Given the description of an element on the screen output the (x, y) to click on. 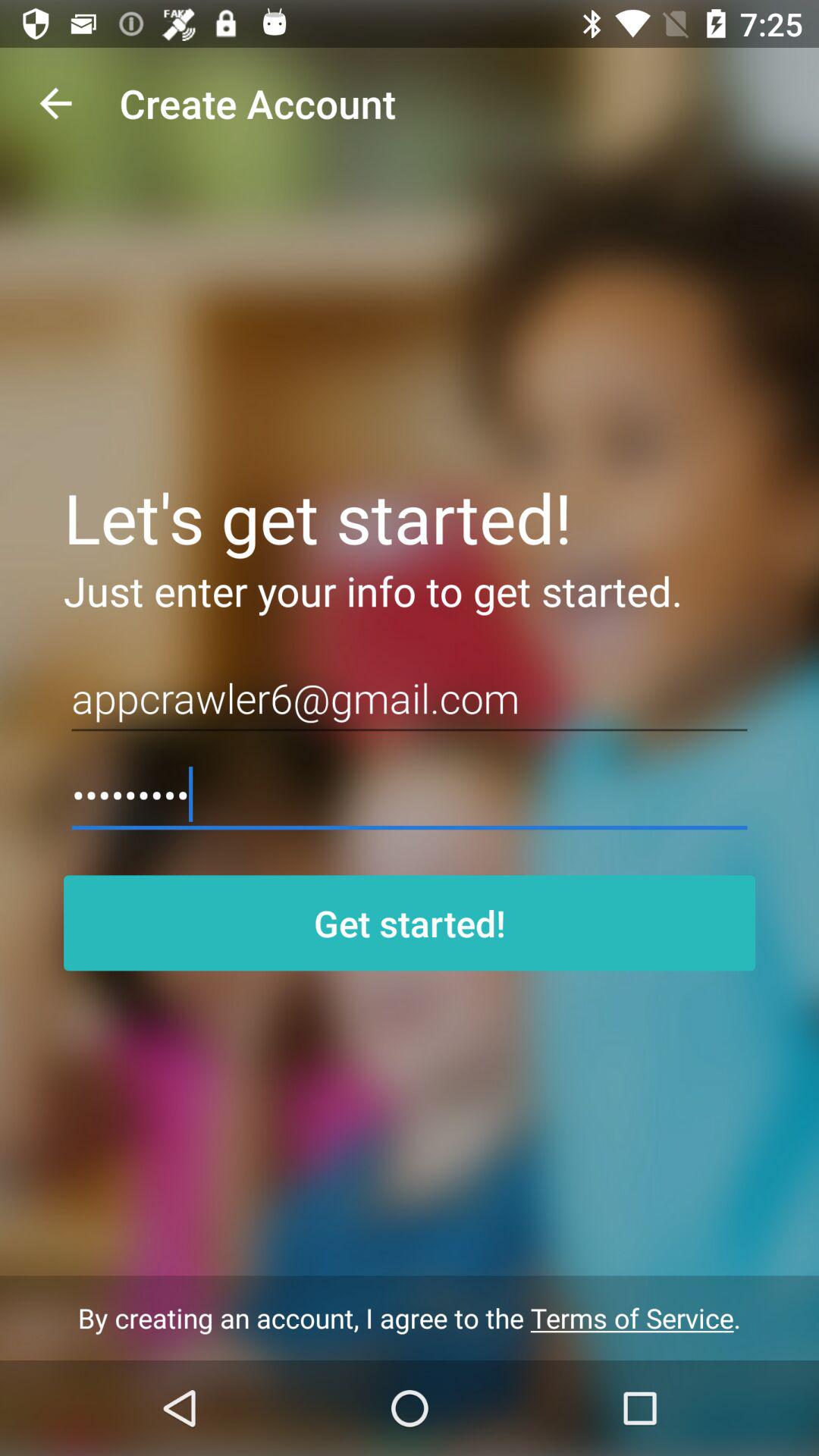
press by creating an at the bottom (409, 1317)
